Given the description of an element on the screen output the (x, y) to click on. 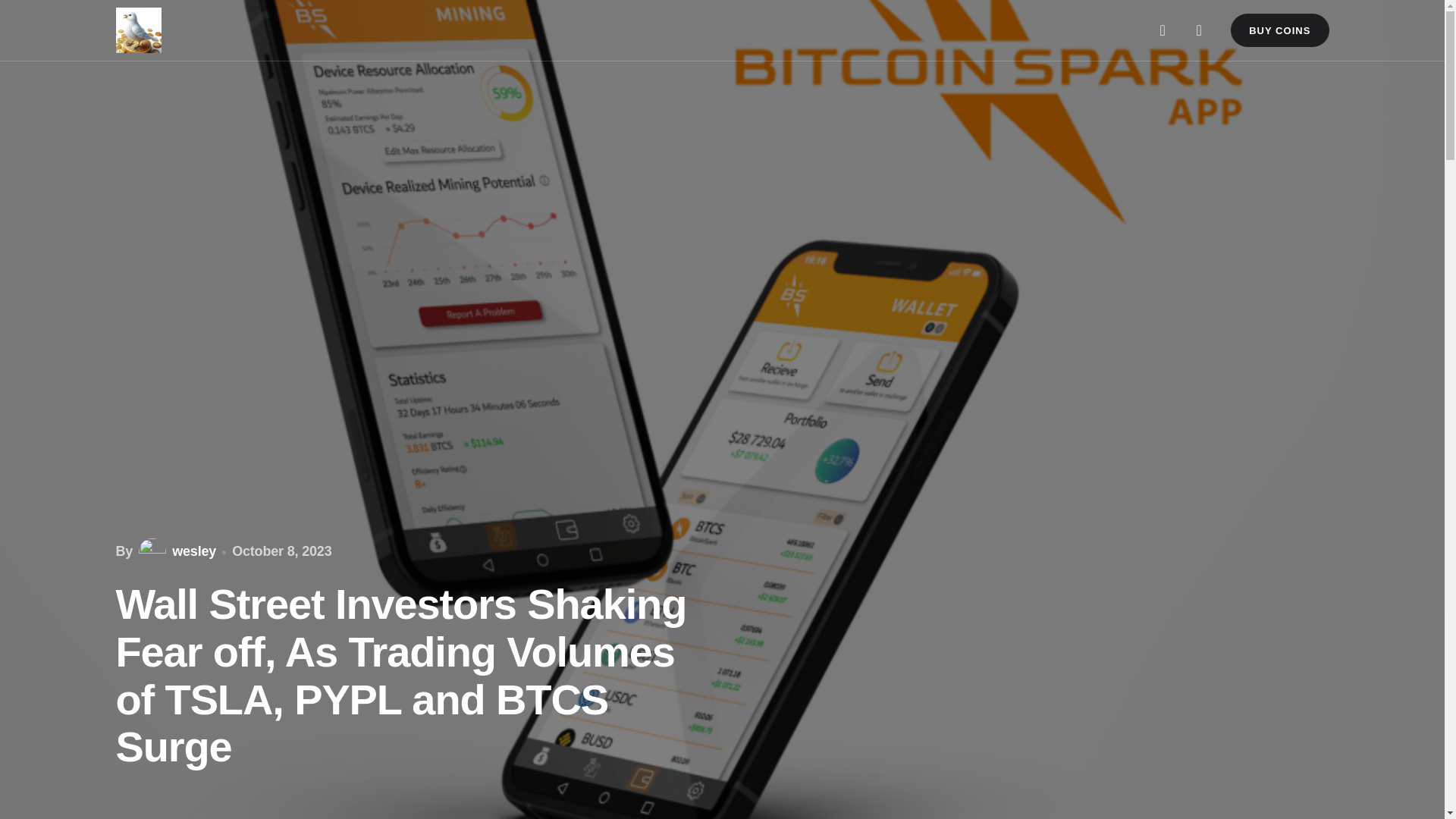
wesley (175, 551)
BUY COINS (1278, 30)
